Given the description of an element on the screen output the (x, y) to click on. 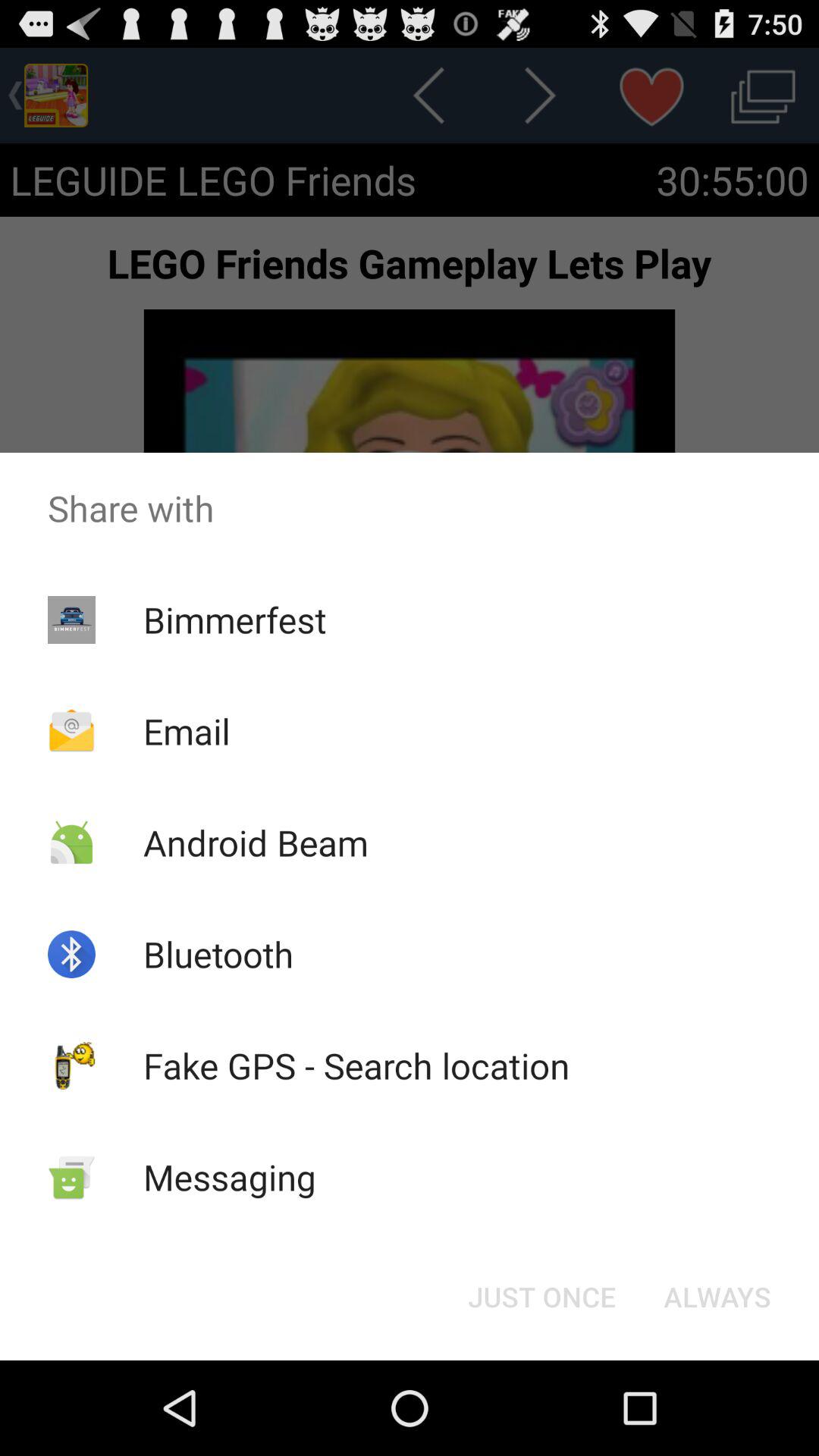
open the app above the bluetooth (255, 842)
